Given the description of an element on the screen output the (x, y) to click on. 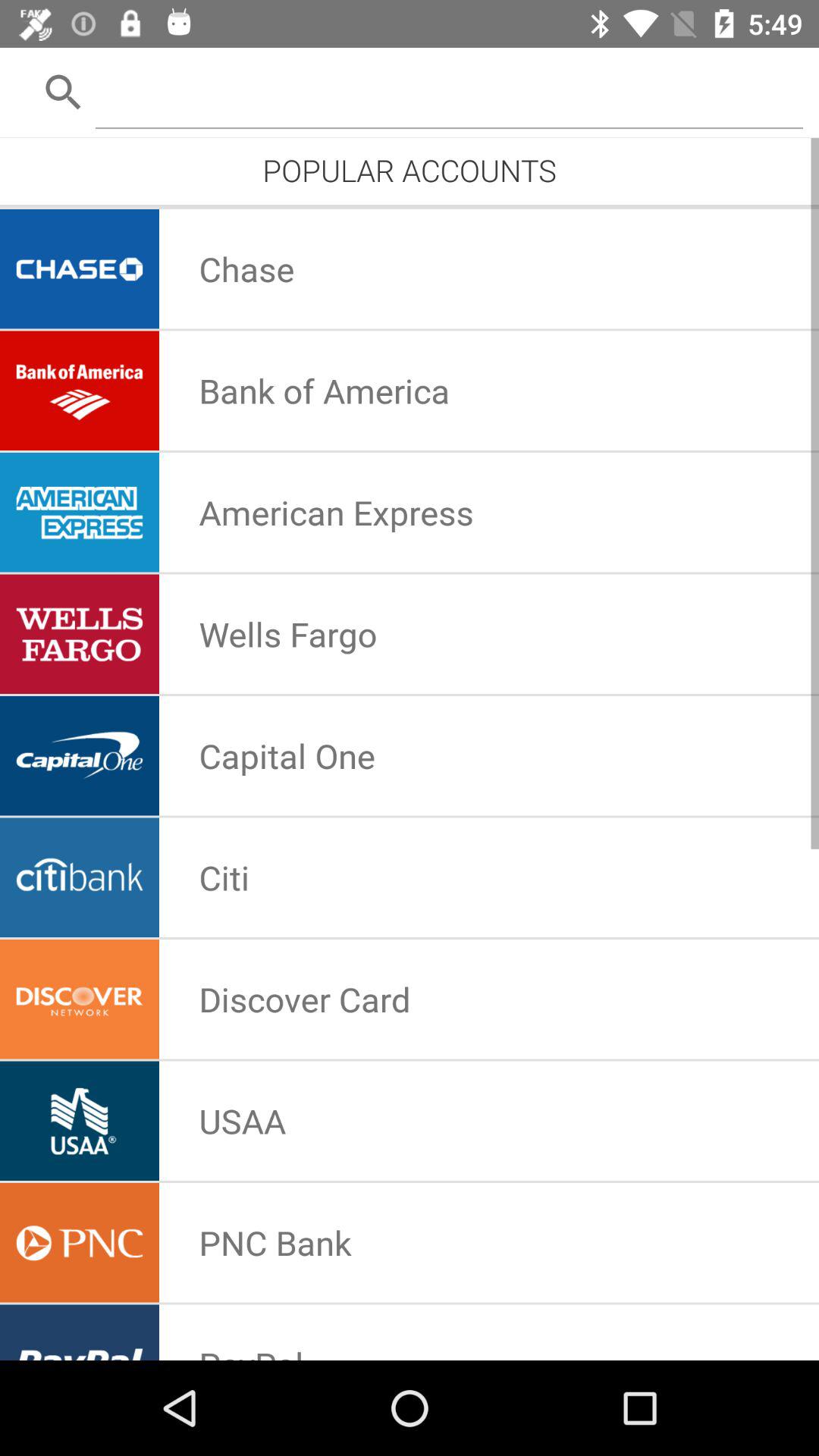
press the popular accounts (409, 170)
